Given the description of an element on the screen output the (x, y) to click on. 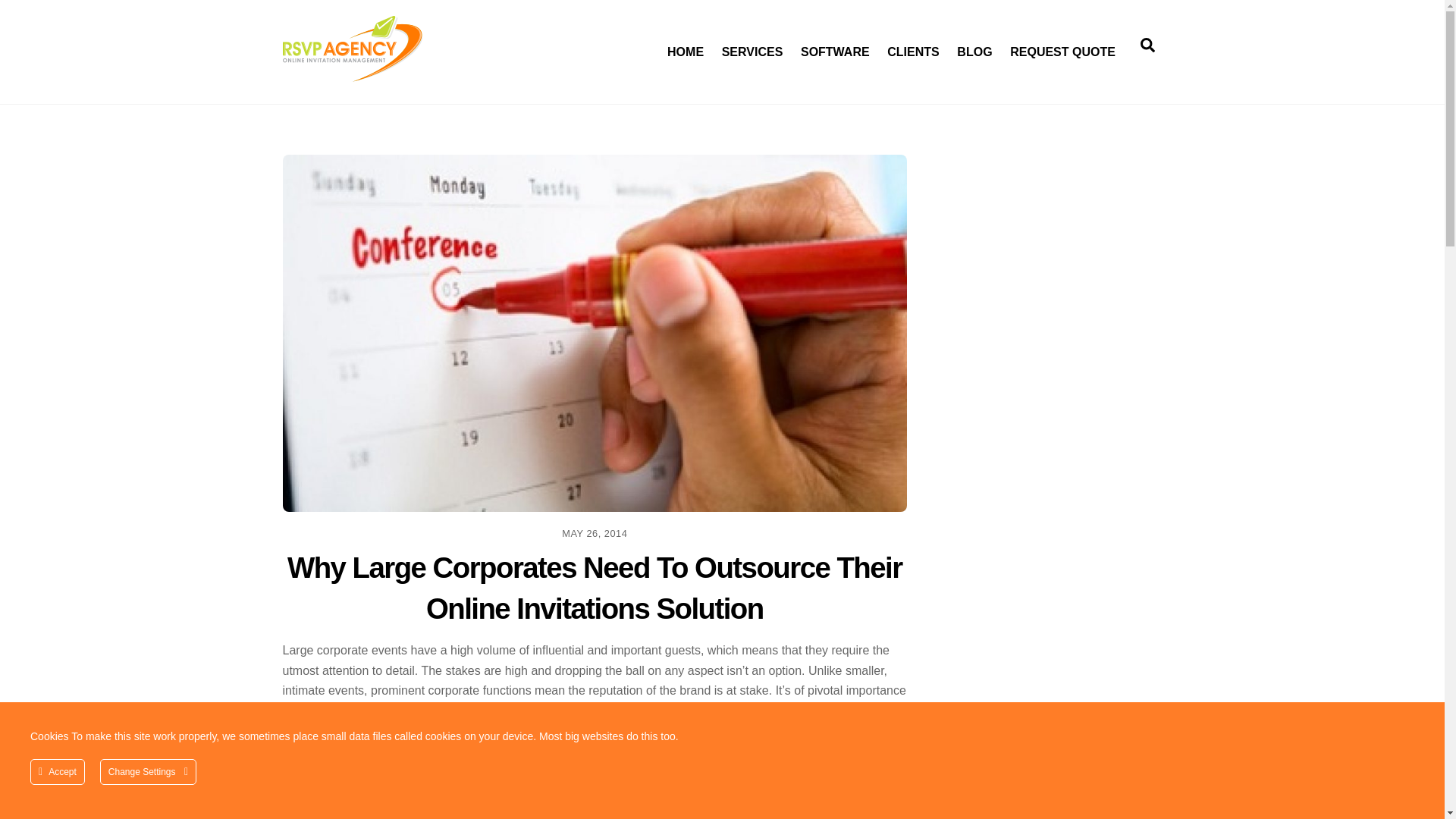
SOFTWARE (834, 44)
CLIENTS (913, 44)
HOME (721, 44)
The RSVP Agency (684, 44)
SERVICES (352, 74)
Search (752, 44)
REQUEST QUOTE (1146, 44)
